Given the description of an element on the screen output the (x, y) to click on. 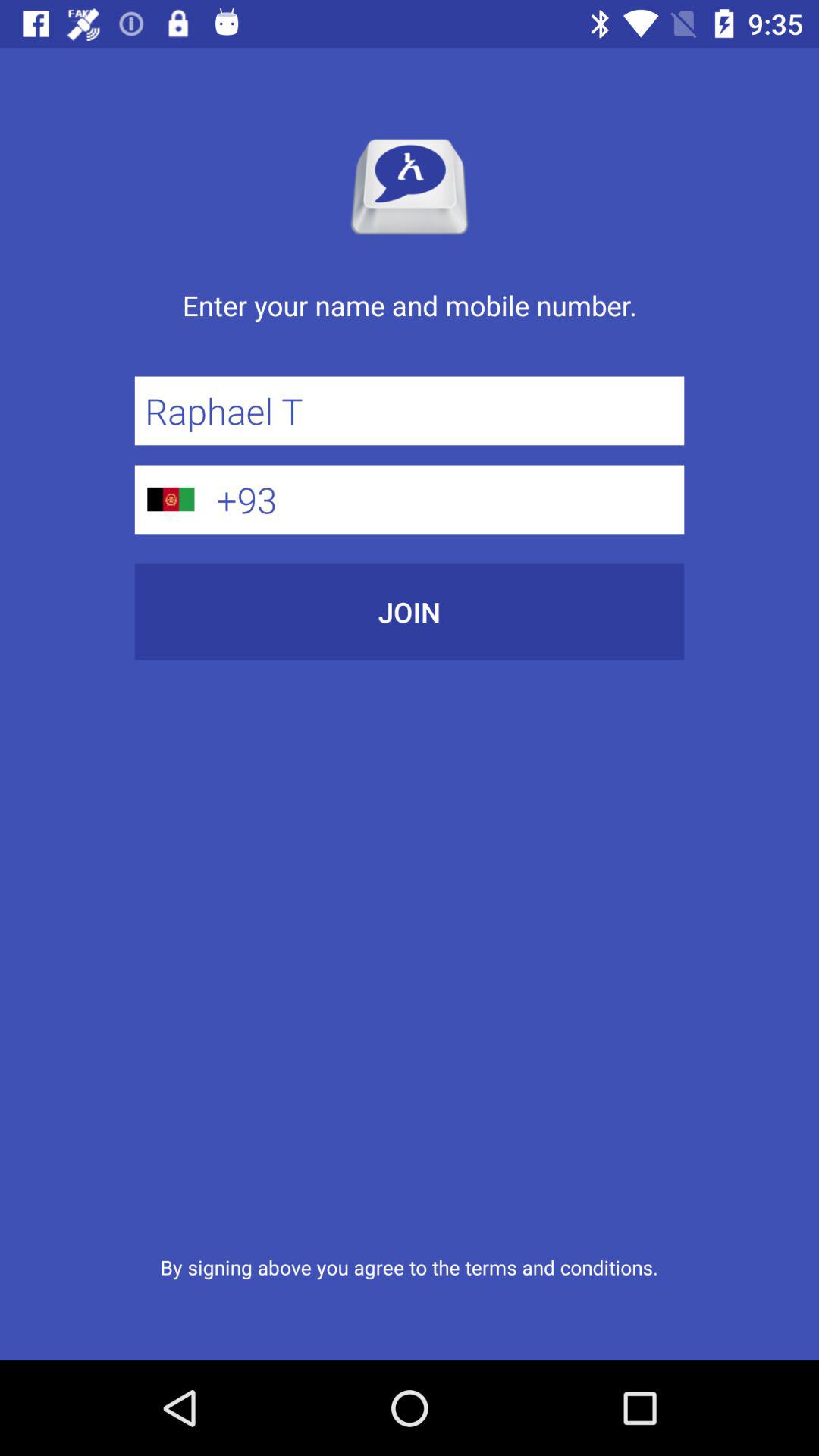
press icon below join icon (409, 1267)
